Given the description of an element on the screen output the (x, y) to click on. 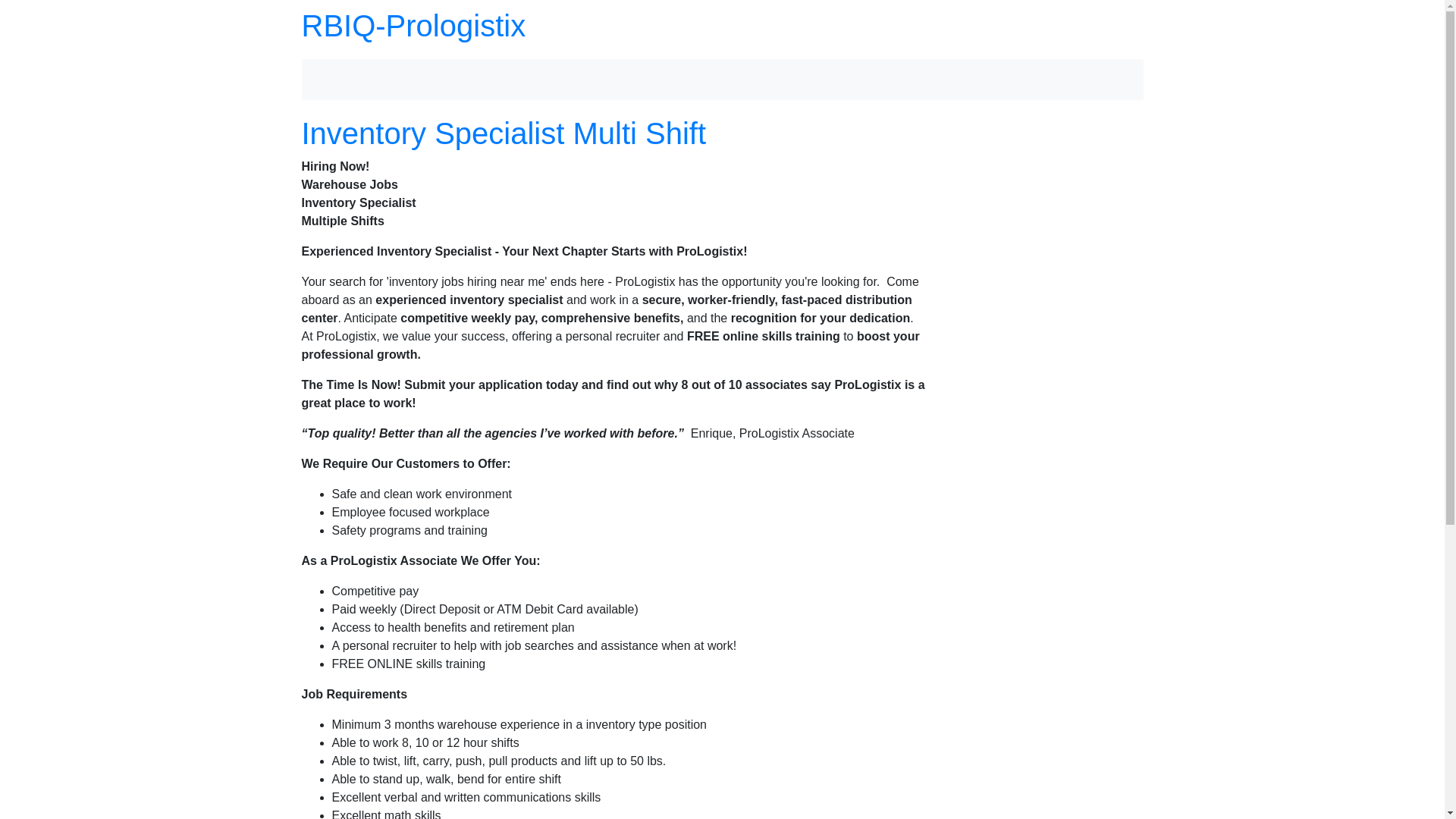
RBIQ-Prologistix (413, 25)
Inventory Specialist Multi Shift (503, 133)
RBIQ-Prologistix (413, 25)
